Given the description of an element on the screen output the (x, y) to click on. 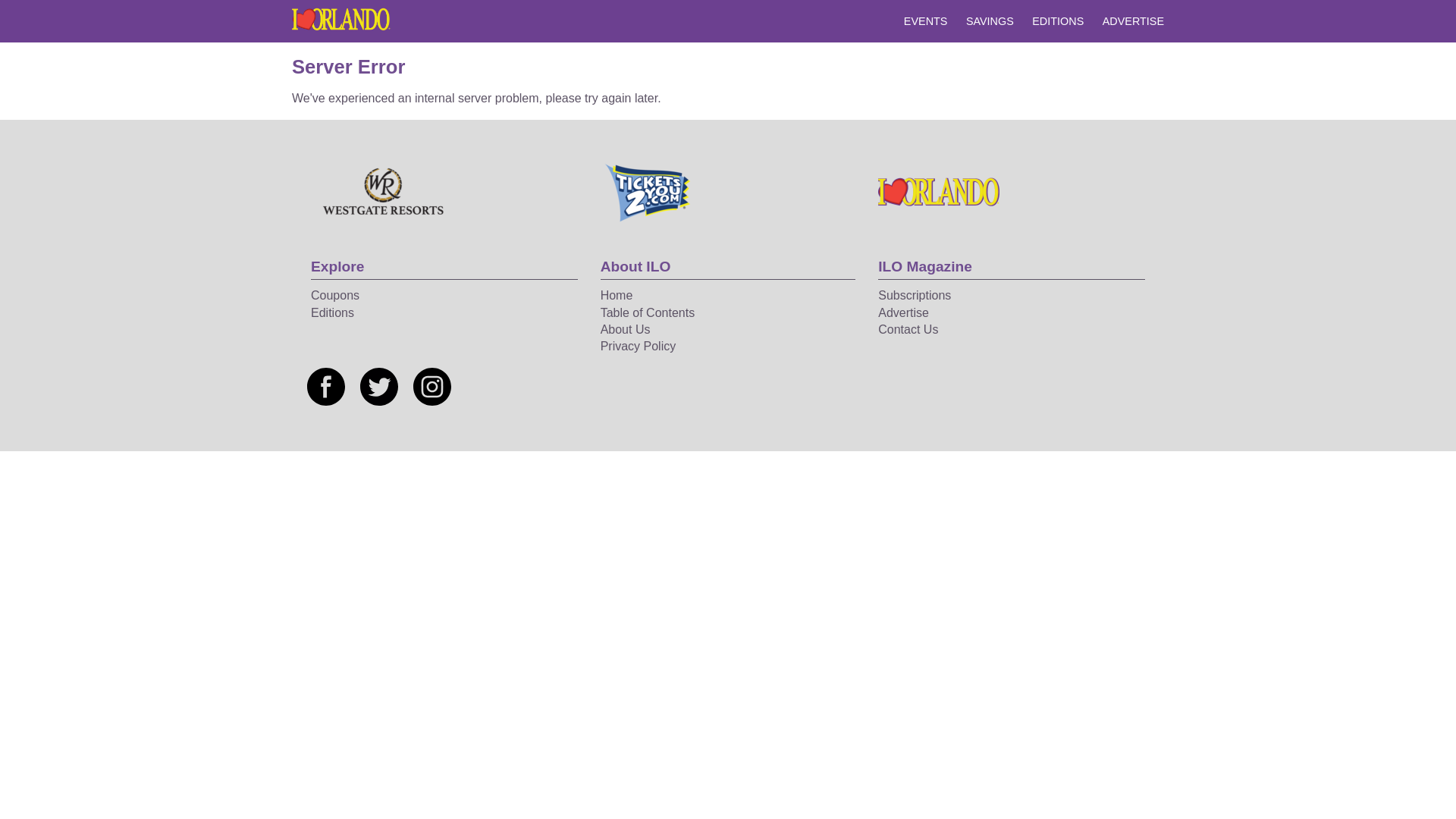
View Our Twitter Page (378, 386)
View our Instagram (432, 386)
Coupons (335, 295)
ADVERTISE (1132, 21)
About Us (624, 328)
SAVINGS (989, 21)
View our Instagram (432, 386)
Table of Contents (647, 312)
Subscriptions (913, 295)
Advertise (902, 312)
